Given the description of an element on the screen output the (x, y) to click on. 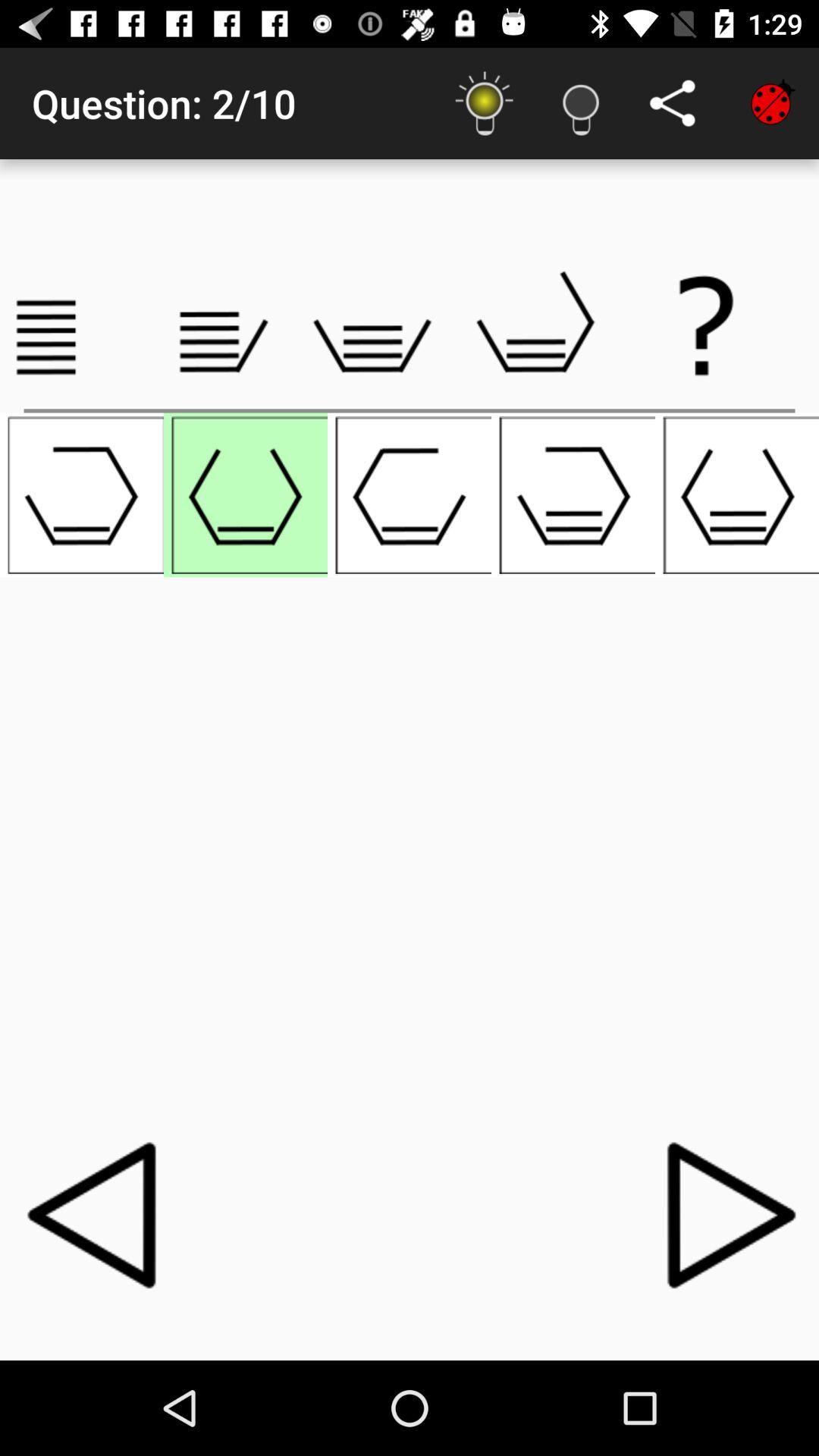
turn on the icon next to question: 2/10 icon (484, 103)
